Given the description of an element on the screen output the (x, y) to click on. 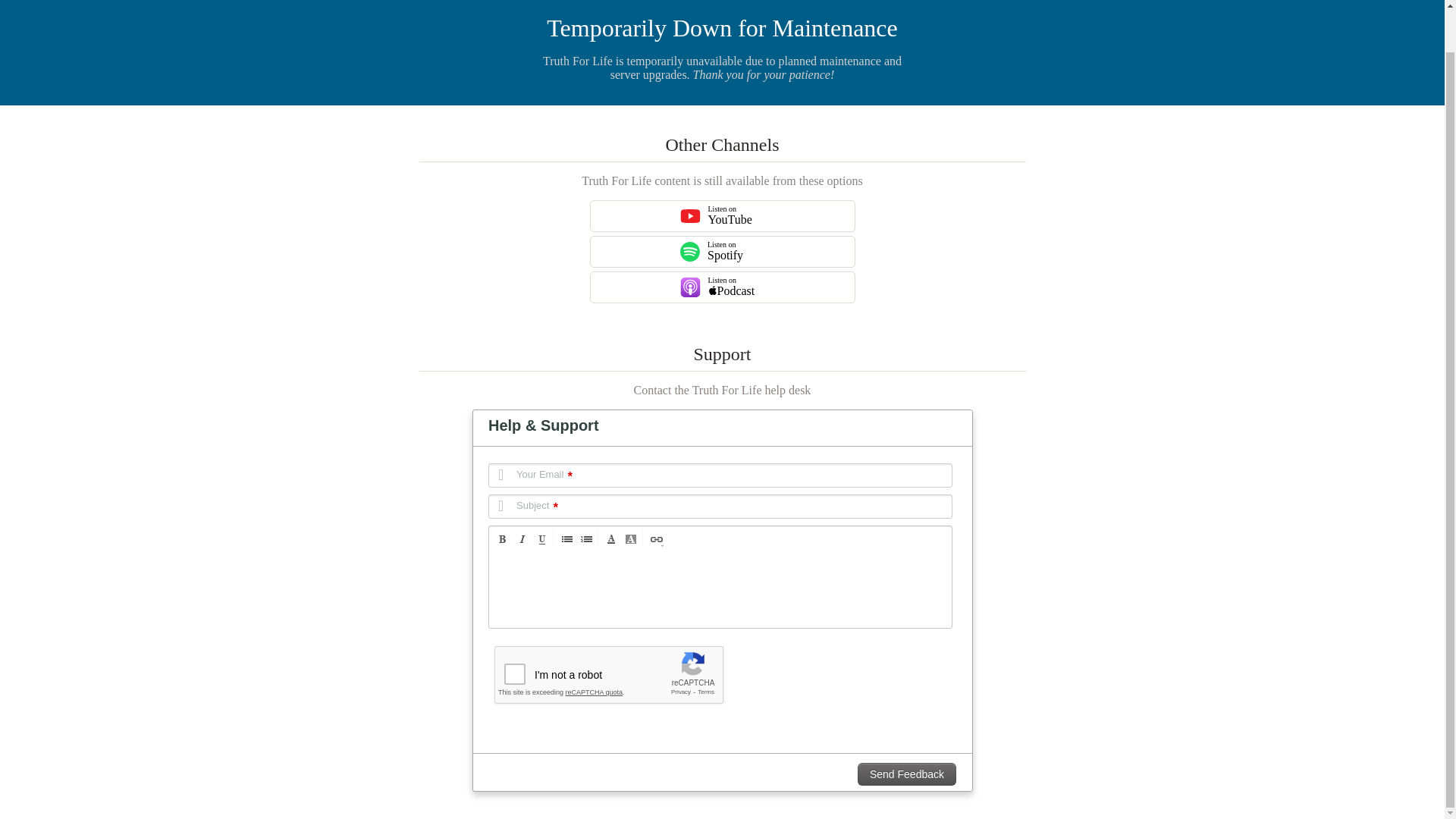
Listen on Apple Podcasts (689, 287)
Podcast (722, 287)
Listen on Spotify (689, 251)
Spotify (722, 251)
Listen on YouTube (689, 216)
YouTube (722, 215)
